Given the description of an element on the screen output the (x, y) to click on. 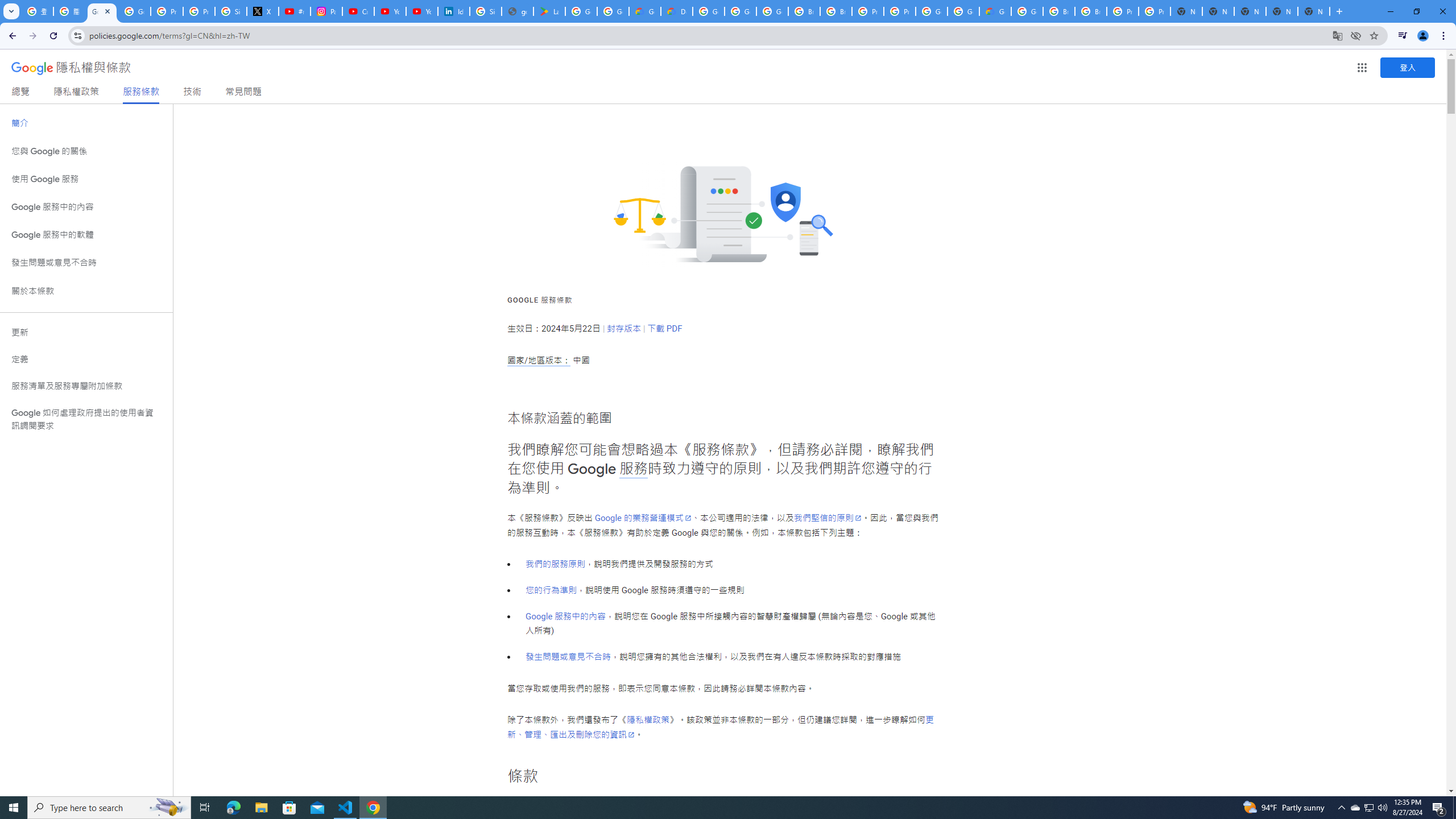
Google Cloud Platform (963, 11)
Identity verification via Persona | LinkedIn Help (453, 11)
Translate this page (1336, 35)
X (262, 11)
google_privacy_policy_en.pdf (517, 11)
#nbabasketballhighlights - YouTube (294, 11)
